Given the description of an element on the screen output the (x, y) to click on. 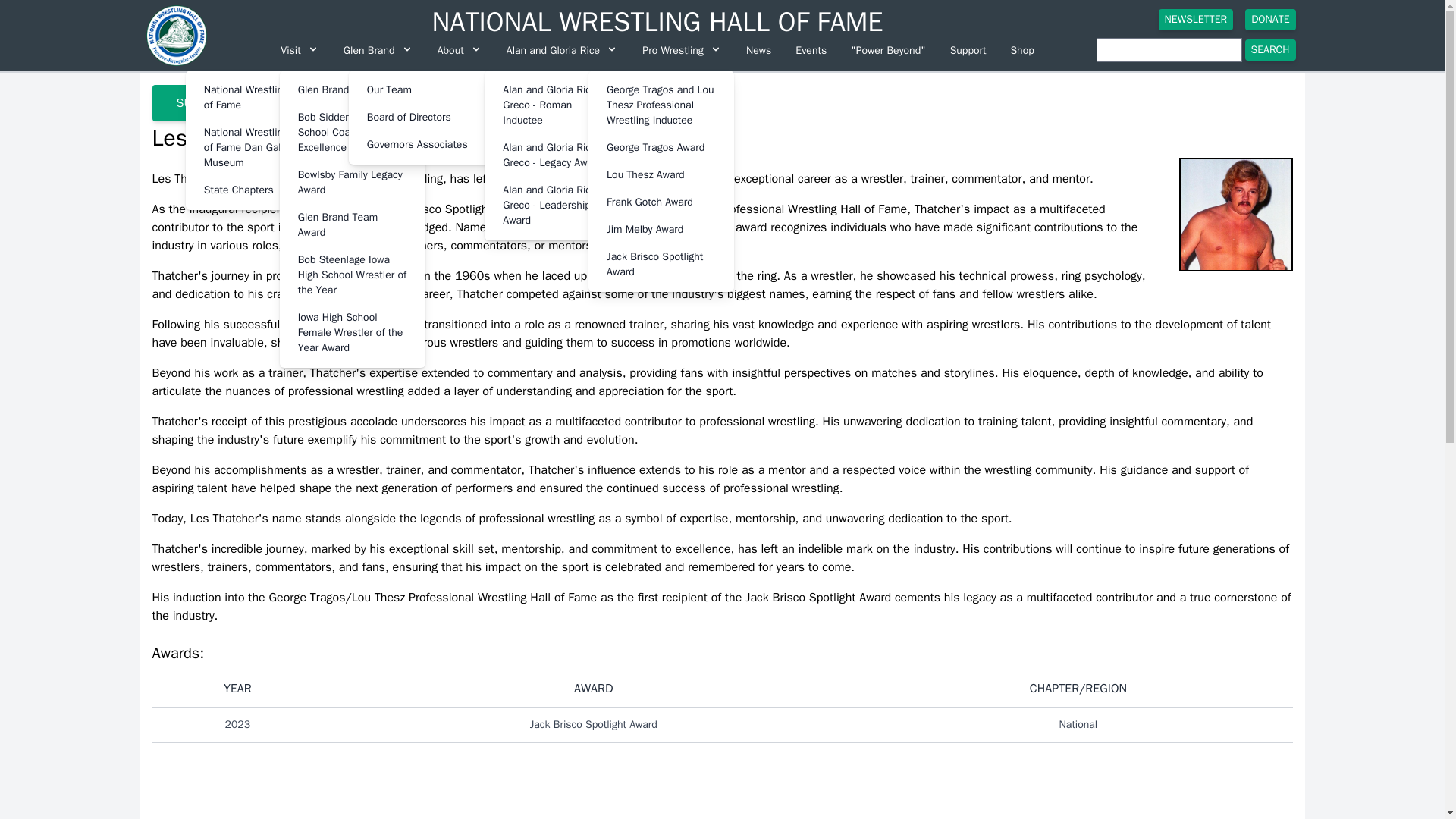
Visit (298, 50)
Board of Directors (421, 117)
NEWSLETTER (1195, 19)
"Power Beyond" (887, 50)
Search (1269, 49)
Shop (1021, 50)
Frank Gotch Award (661, 202)
DONATE (1269, 19)
Governors Associates (421, 144)
National Wrestling Hall of Fame (258, 97)
